Given the description of an element on the screen output the (x, y) to click on. 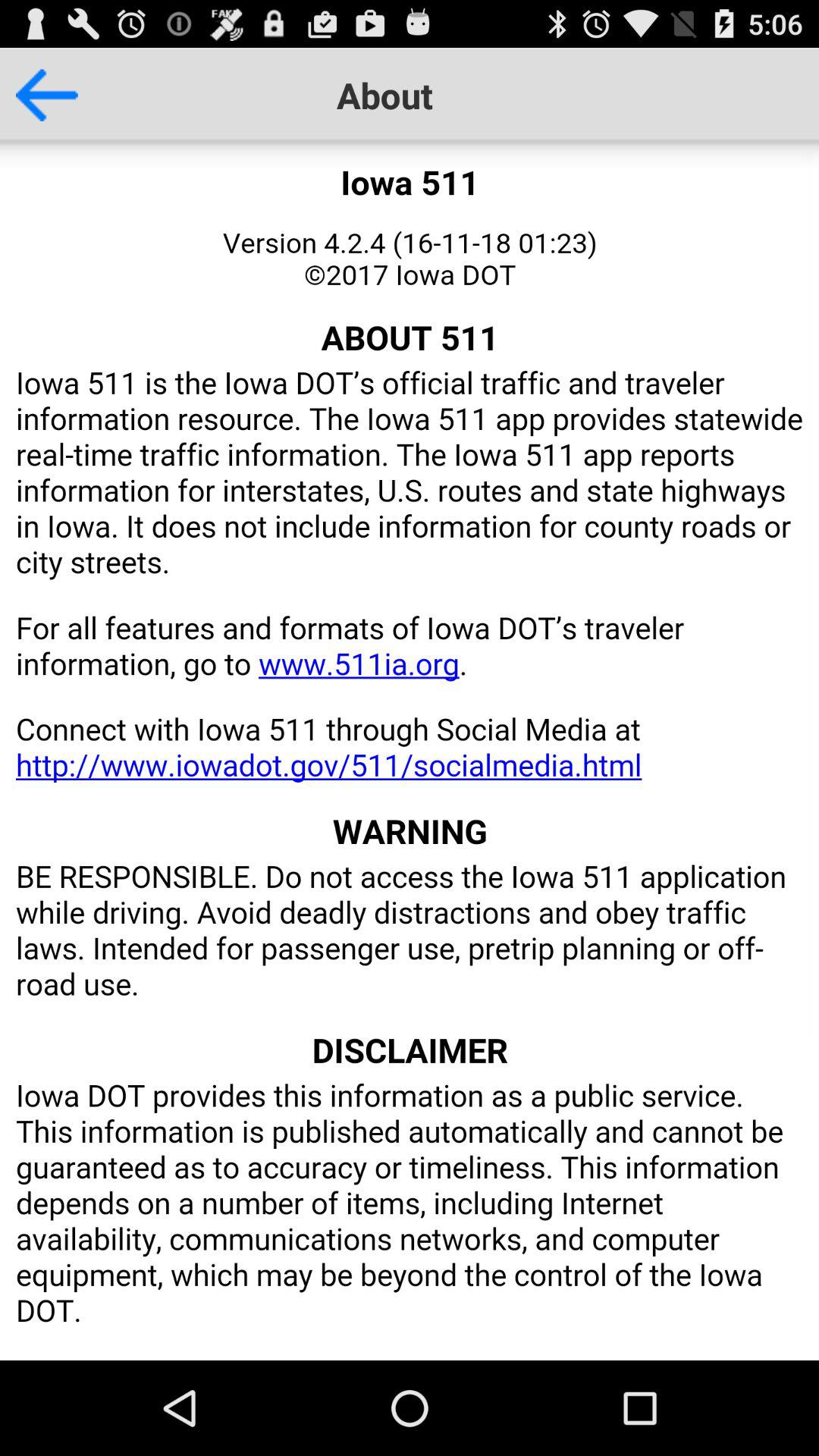
go back to previous page (38, 95)
